Given the description of an element on the screen output the (x, y) to click on. 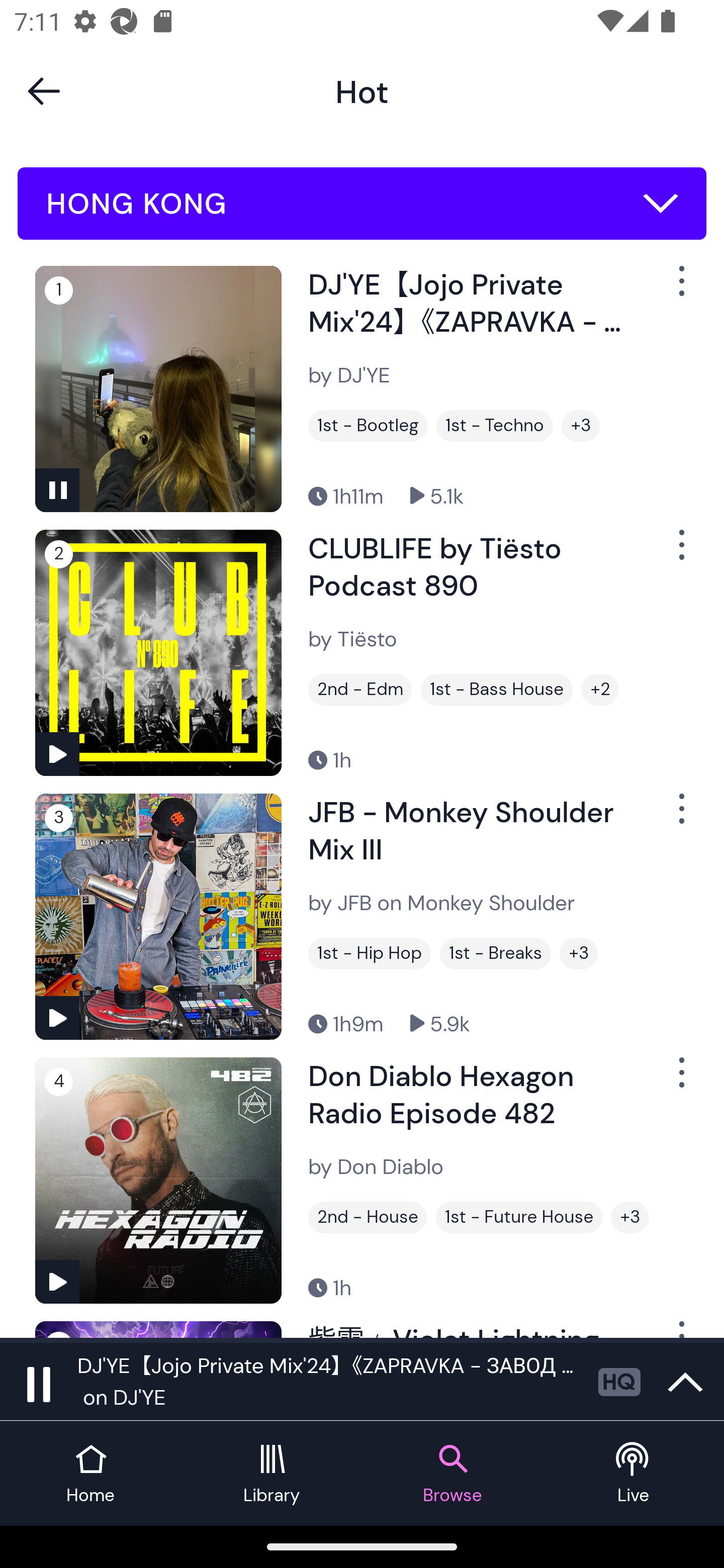
HONG KONG (361, 203)
Show Options Menu Button (679, 289)
1st - Bootleg (367, 426)
1st - Techno (494, 426)
Show Options Menu Button (679, 552)
2nd - Edm (359, 689)
1st - Bass House (496, 689)
Show Options Menu Button (679, 815)
1st - Hip Hop (369, 953)
1st - Breaks (495, 953)
Show Options Menu Button (679, 1079)
2nd - House (367, 1217)
1st - Future House (518, 1217)
Home tab Home (90, 1473)
Library tab Library (271, 1473)
Browse tab Browse (452, 1473)
Live tab Live (633, 1473)
